Given the description of an element on the screen output the (x, y) to click on. 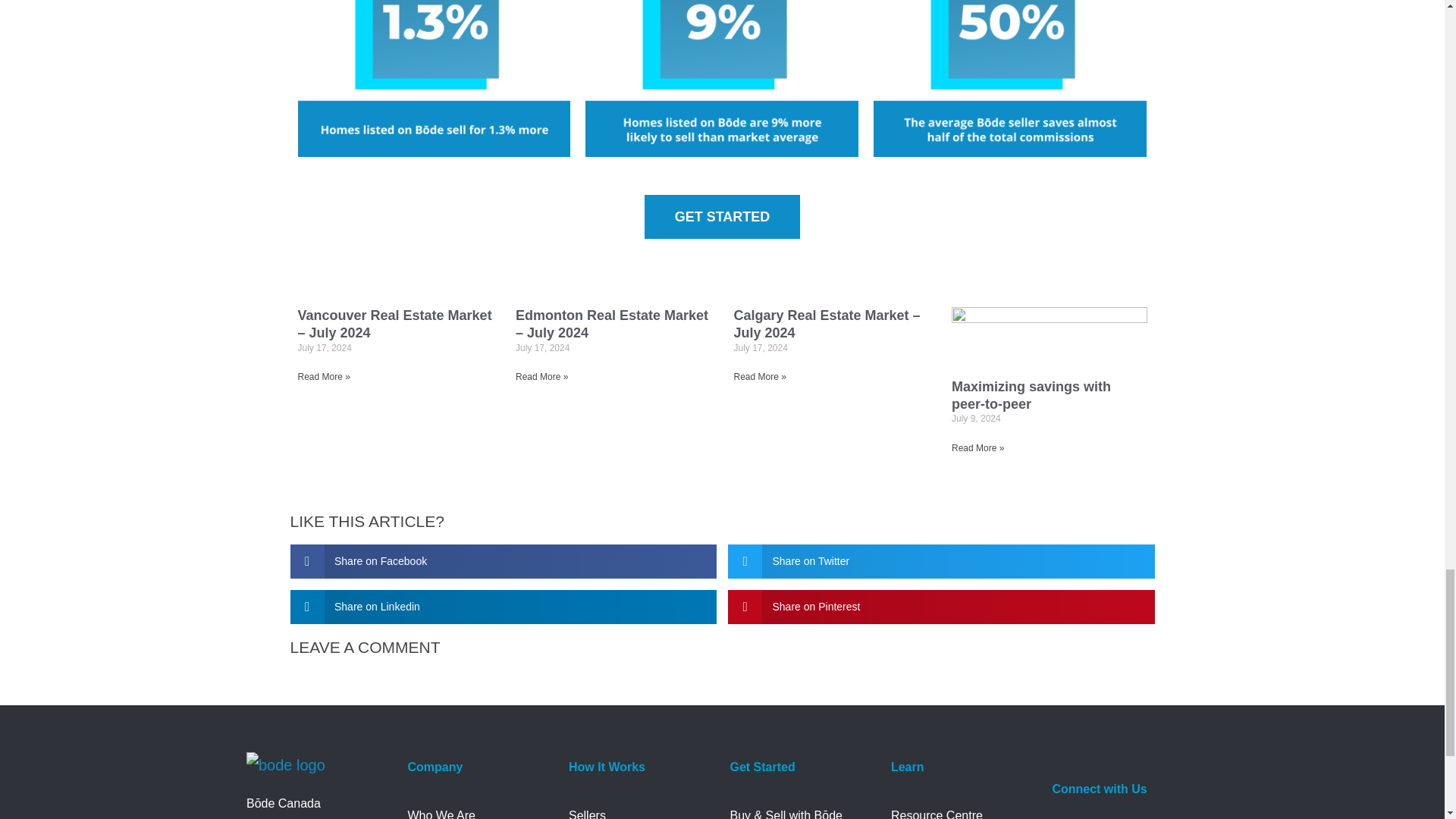
GET STARTED (722, 216)
Maximizing savings with peer-to-peer (1031, 395)
